Given the description of an element on the screen output the (x, y) to click on. 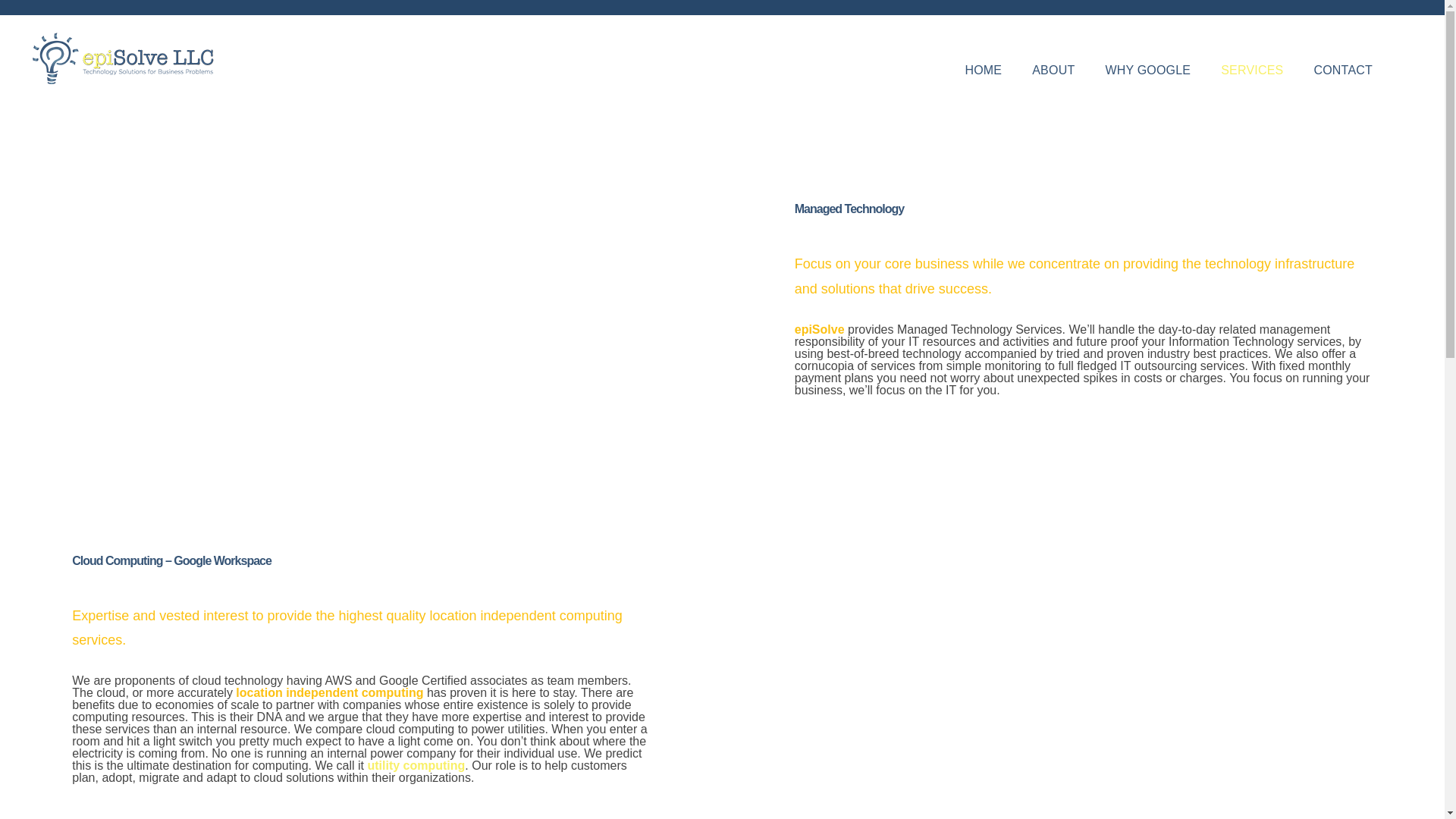
About (1052, 69)
Home (982, 69)
ABOUT (1052, 69)
HOME (982, 69)
Why Google (1147, 69)
WHY GOOGLE (1147, 69)
Contact (1342, 69)
Services (1251, 69)
SERVICES (1251, 69)
CONTACT (1342, 69)
